Given the description of an element on the screen output the (x, y) to click on. 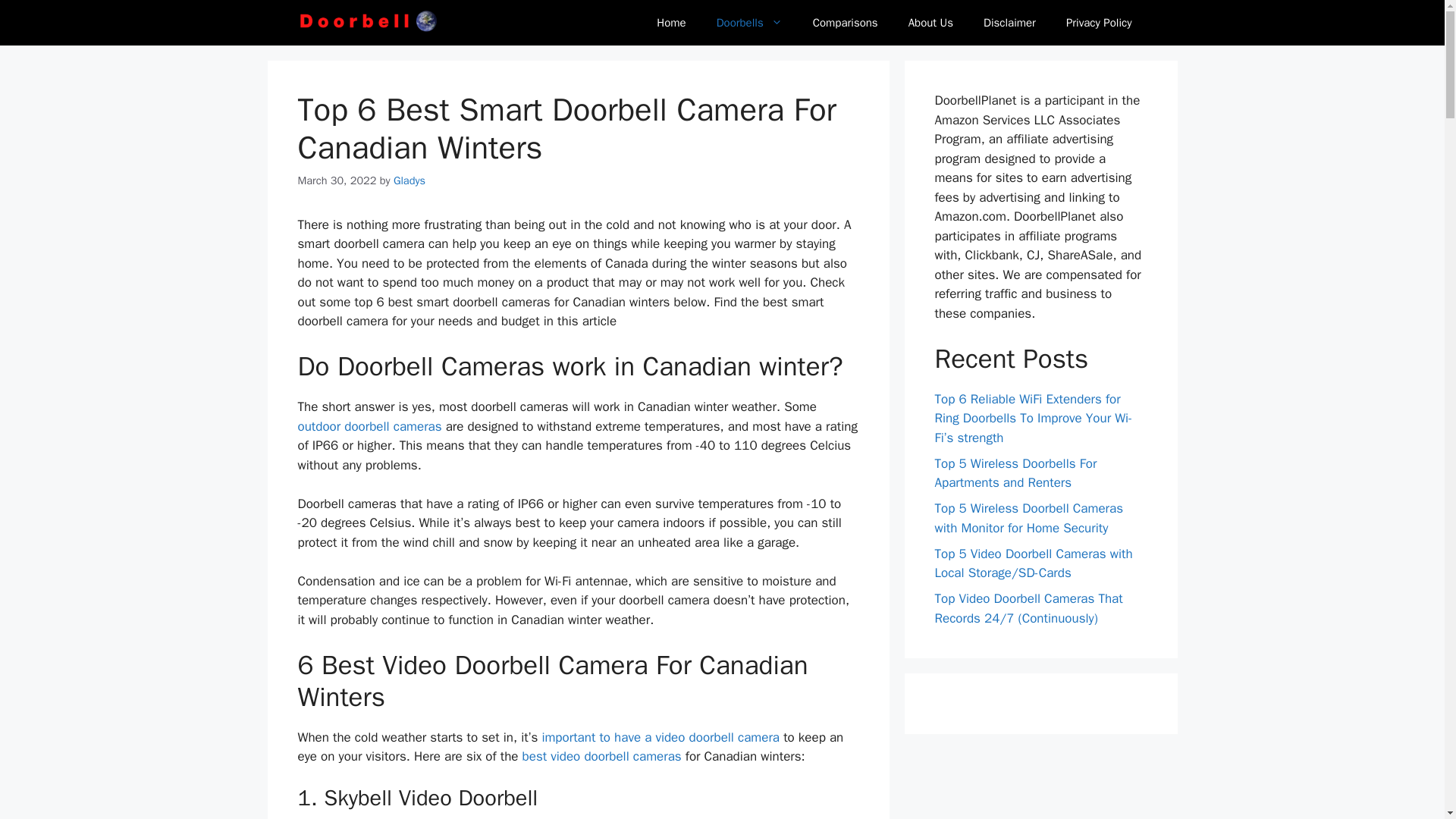
View all posts by Gladys (409, 180)
outdoor doorbell cameras (369, 426)
Doorbell Planet (369, 22)
Gladys (409, 180)
important to have a video doorbell camera (659, 737)
About Us (930, 22)
Home (671, 22)
Comparisons (845, 22)
Disclaimer (1009, 22)
Privacy Policy (1099, 22)
Doorbells (749, 22)
best video doorbell cameras (601, 756)
